Given the description of an element on the screen output the (x, y) to click on. 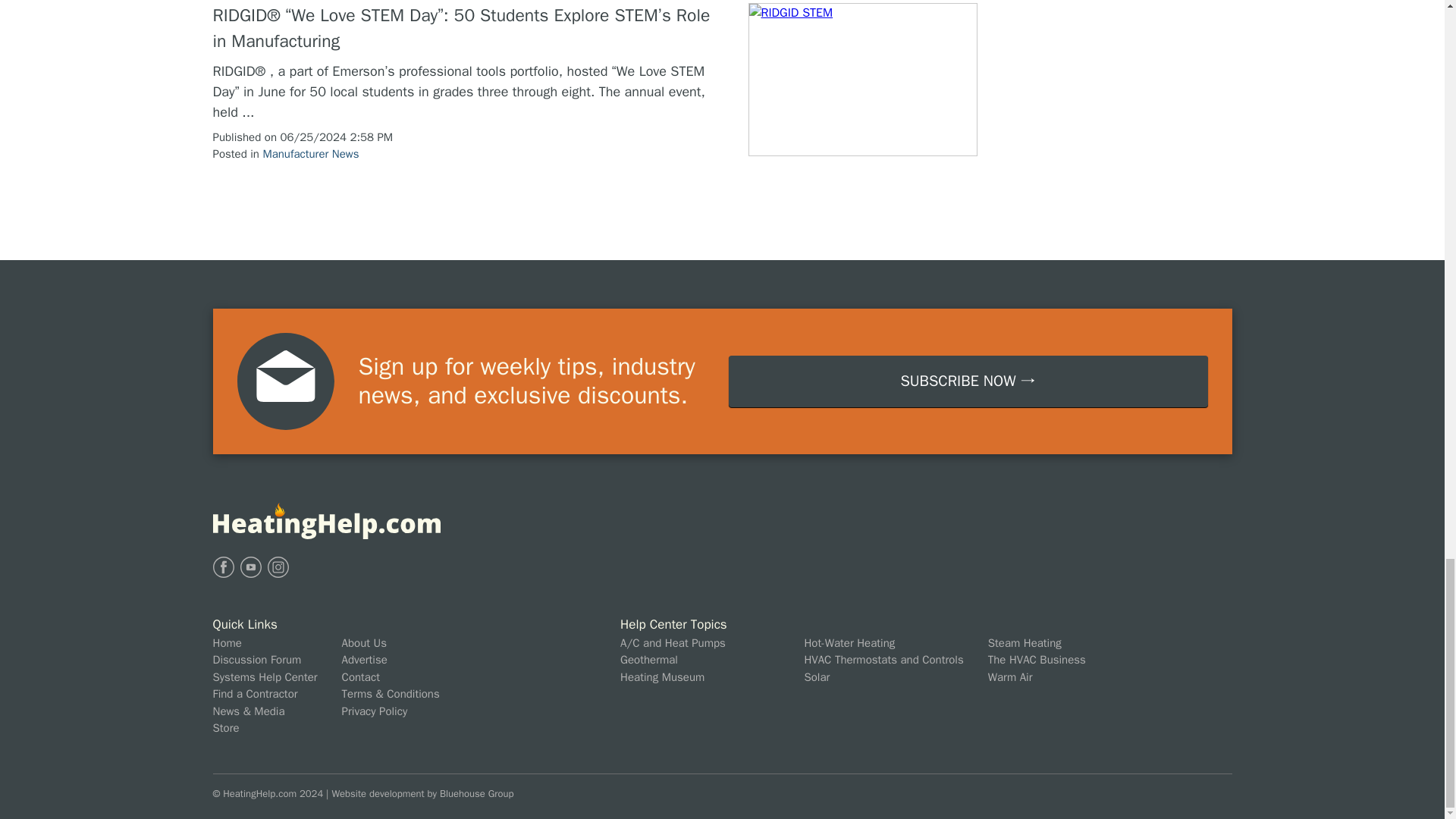
Manufacturer News (310, 153)
